Given the description of an element on the screen output the (x, y) to click on. 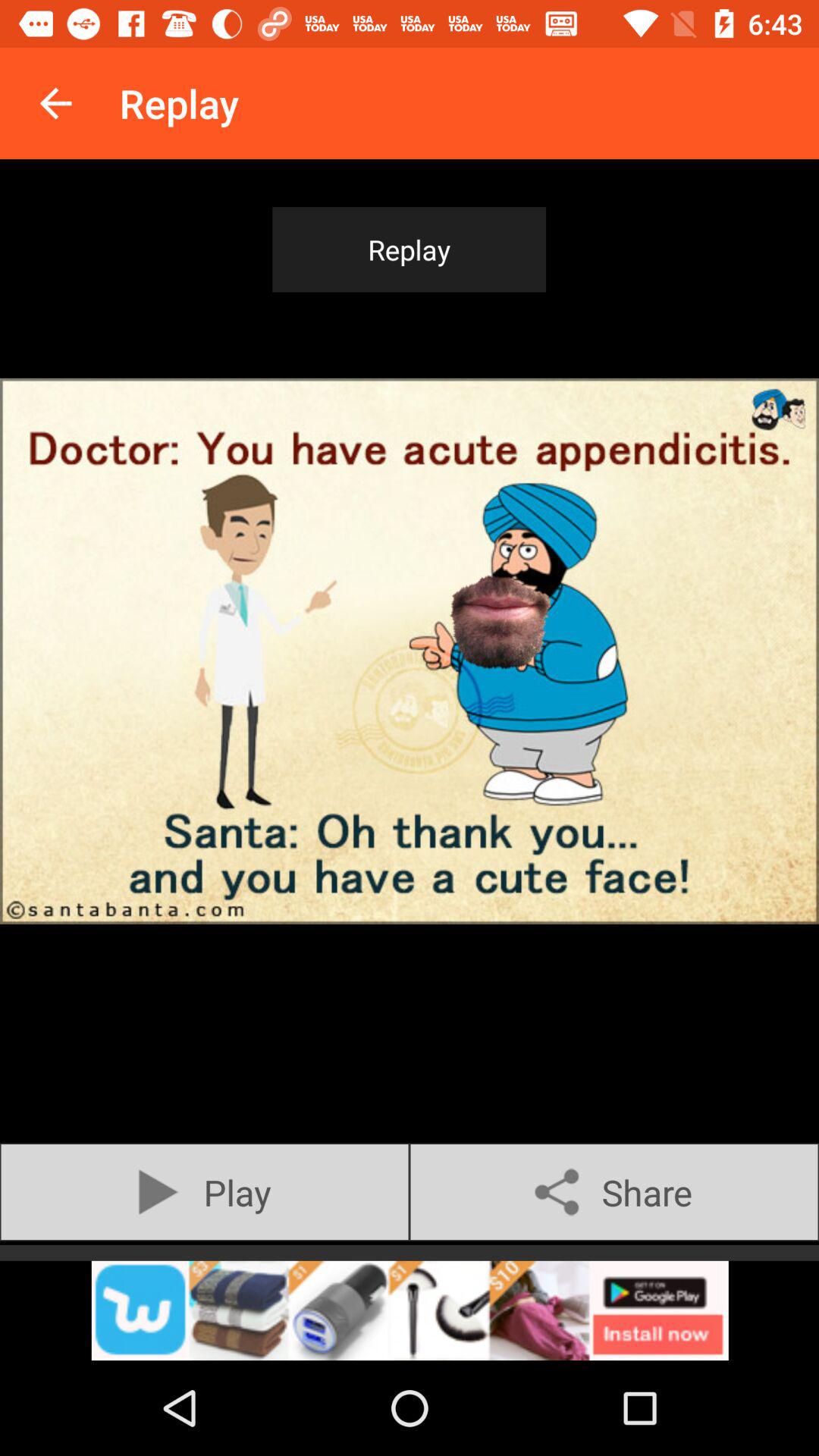
open webpage of displayed advertisement (409, 1310)
